Given the description of an element on the screen output the (x, y) to click on. 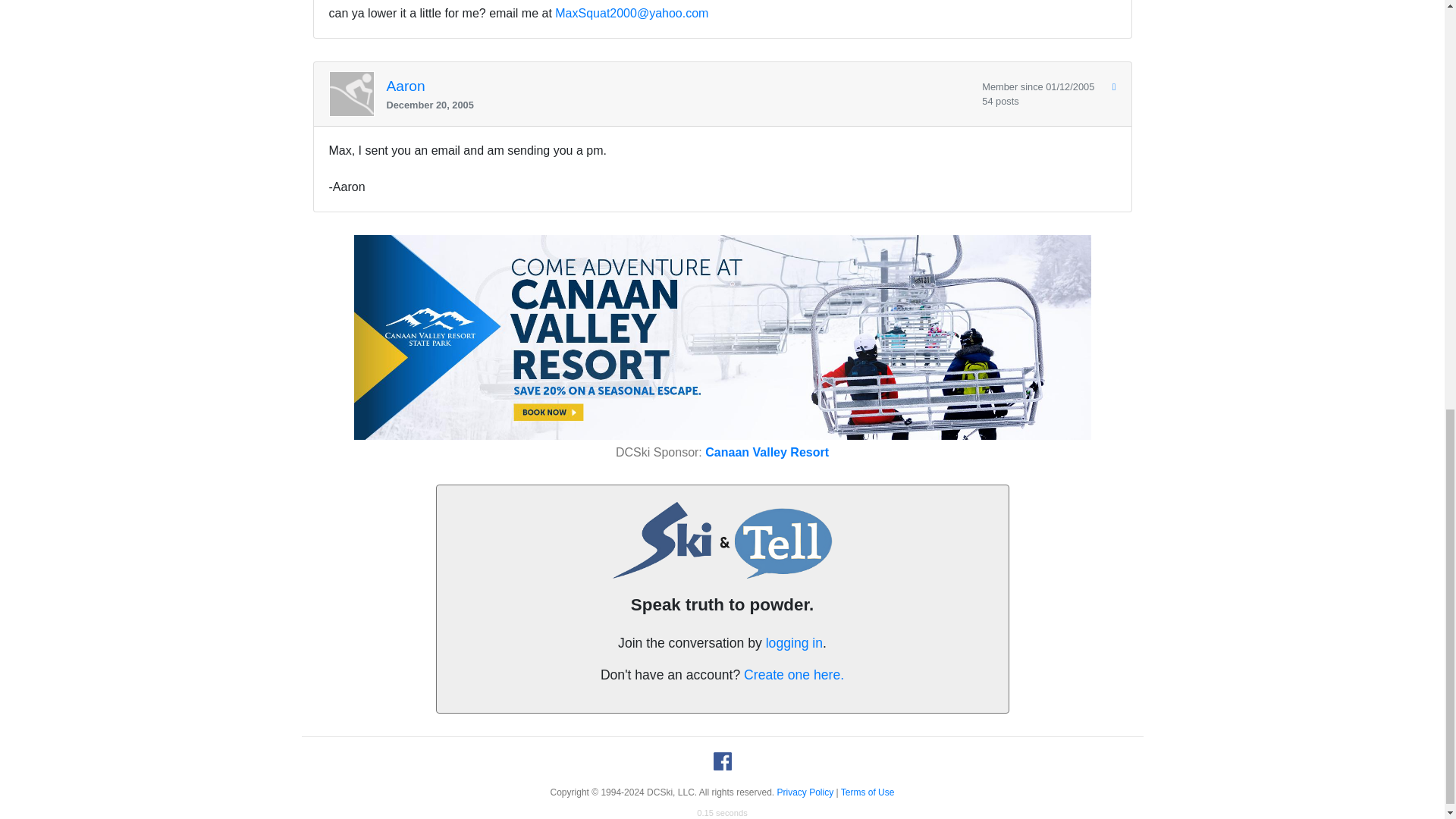
Aaron (406, 86)
logging in (793, 642)
December 20, 2005 at 09:55 pm (679, 104)
Create one here. (794, 674)
Canaan Valley Resort (766, 451)
